Given the description of an element on the screen output the (x, y) to click on. 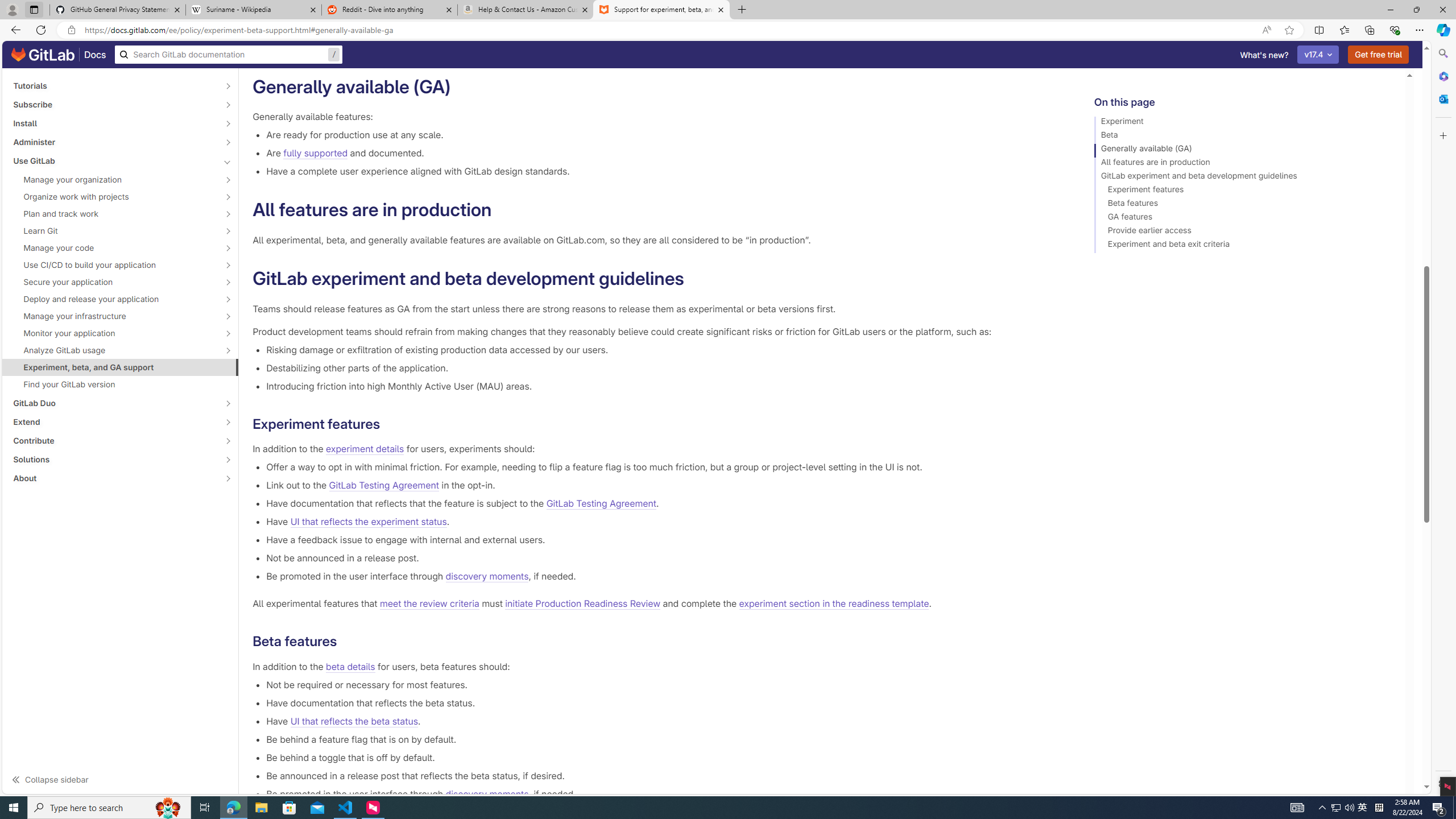
Have documentation that reflects the beta status. (662, 702)
v17.4 (1318, 54)
Administer (113, 141)
GA features (1244, 218)
Not be announced in a release post. (662, 558)
Experiment, beta, and GA support (120, 366)
What's new? (1263, 54)
GitLab Duo (113, 402)
Experiment and beta exit criteria (1244, 246)
Subscribe (113, 104)
Provide earlier access (1244, 232)
